Given the description of an element on the screen output the (x, y) to click on. 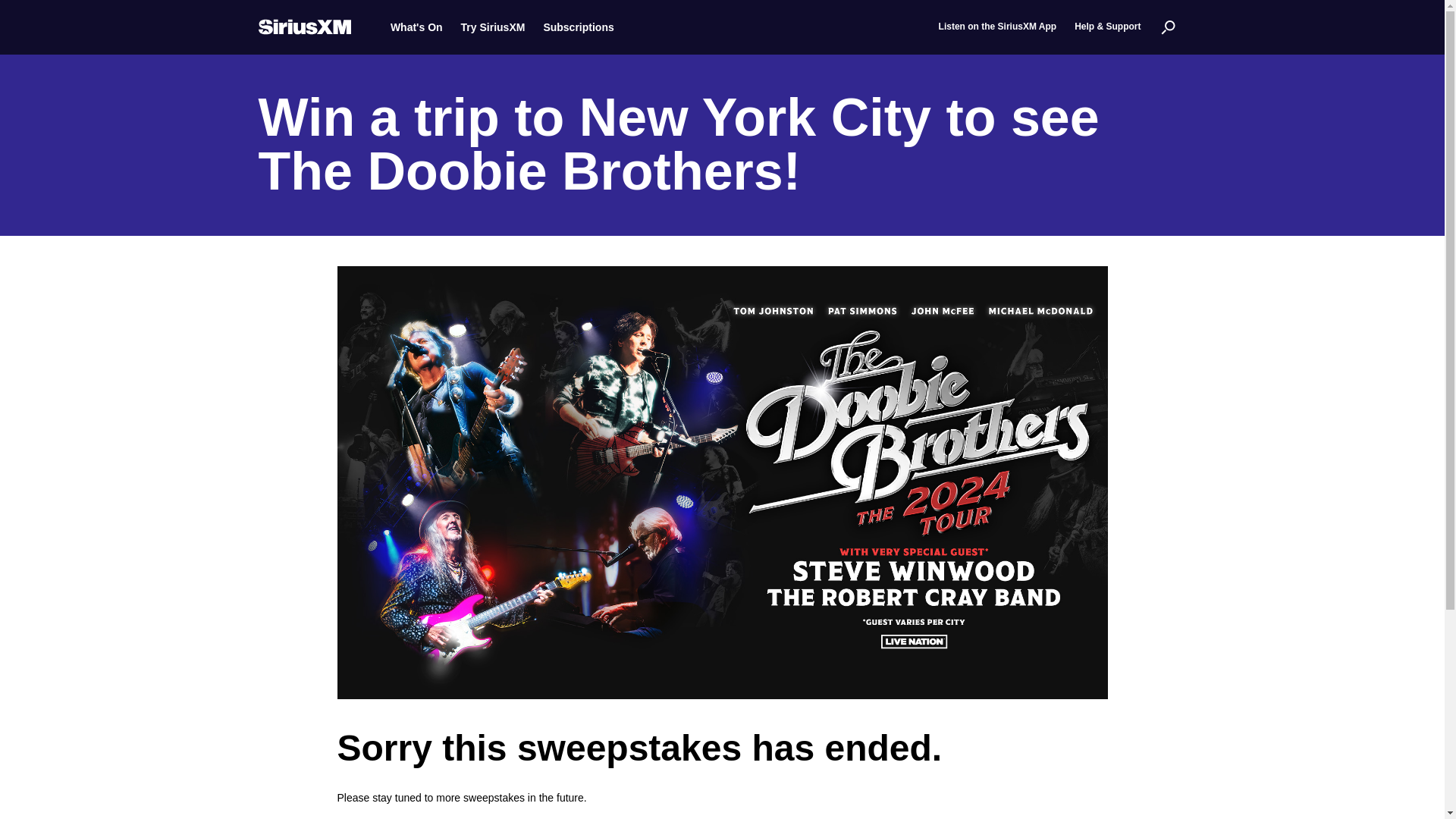
Listen on the SiriusXM App (997, 27)
Try SiriusXM (492, 27)
Subscriptions (578, 27)
What's On (416, 27)
